Given the description of an element on the screen output the (x, y) to click on. 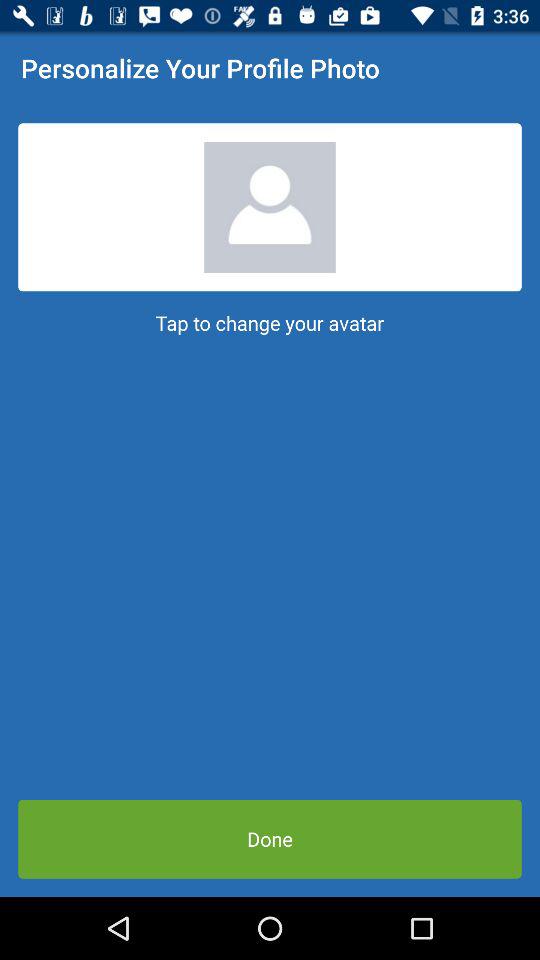
add a profile picture (269, 207)
